Given the description of an element on the screen output the (x, y) to click on. 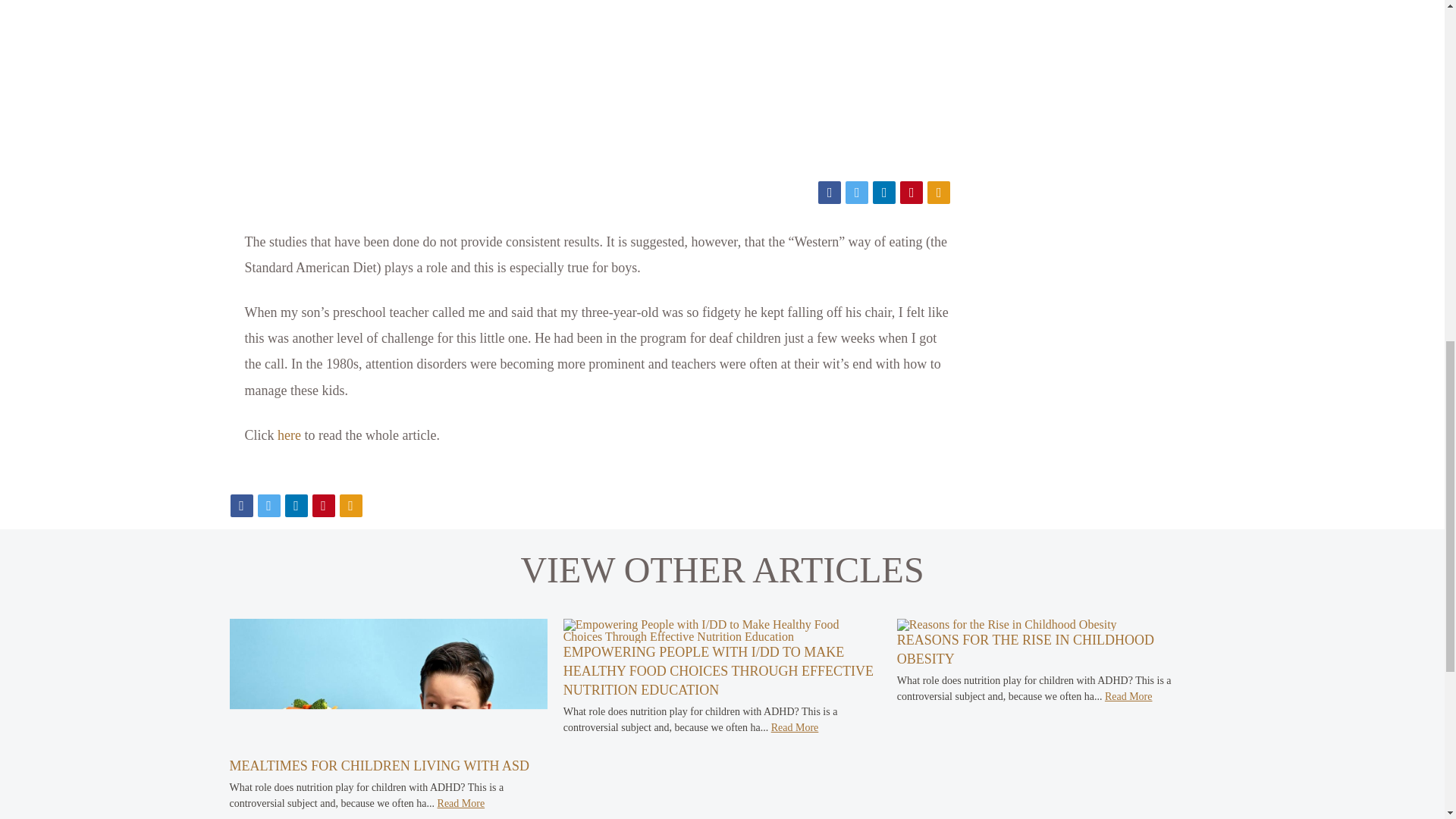
Share this on LinkedIn (296, 505)
Share this on Facebook (241, 505)
Share this on Pinterest (911, 191)
Share this by email (938, 191)
Share this by email (350, 505)
Share this on LinkedIn (883, 191)
Share this on Twitter (269, 505)
Share this on Pinterest (323, 505)
Share this on Twitter (856, 191)
read entire article Mealtimes for Children Living with ASD (387, 749)
